Given the description of an element on the screen output the (x, y) to click on. 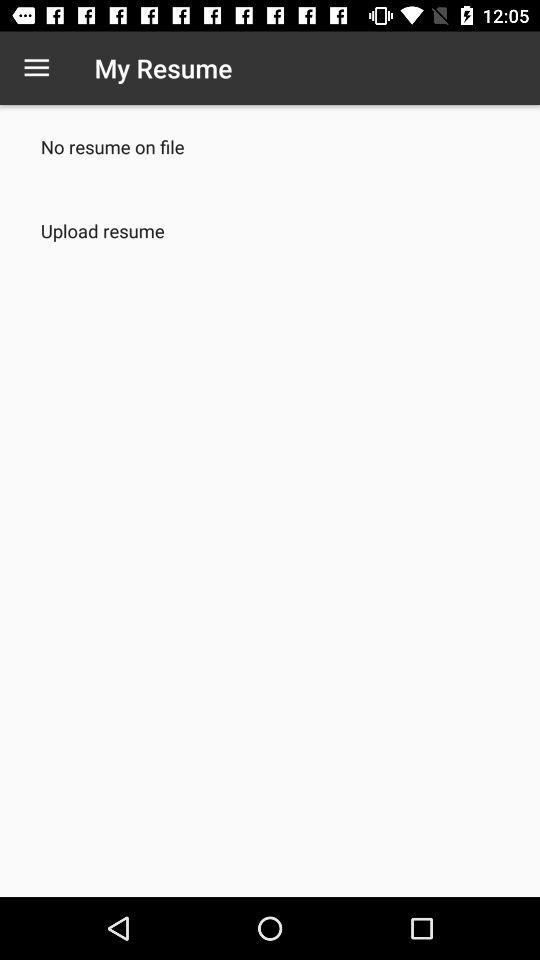
turn off the icon next to the my resume item (36, 68)
